Given the description of an element on the screen output the (x, y) to click on. 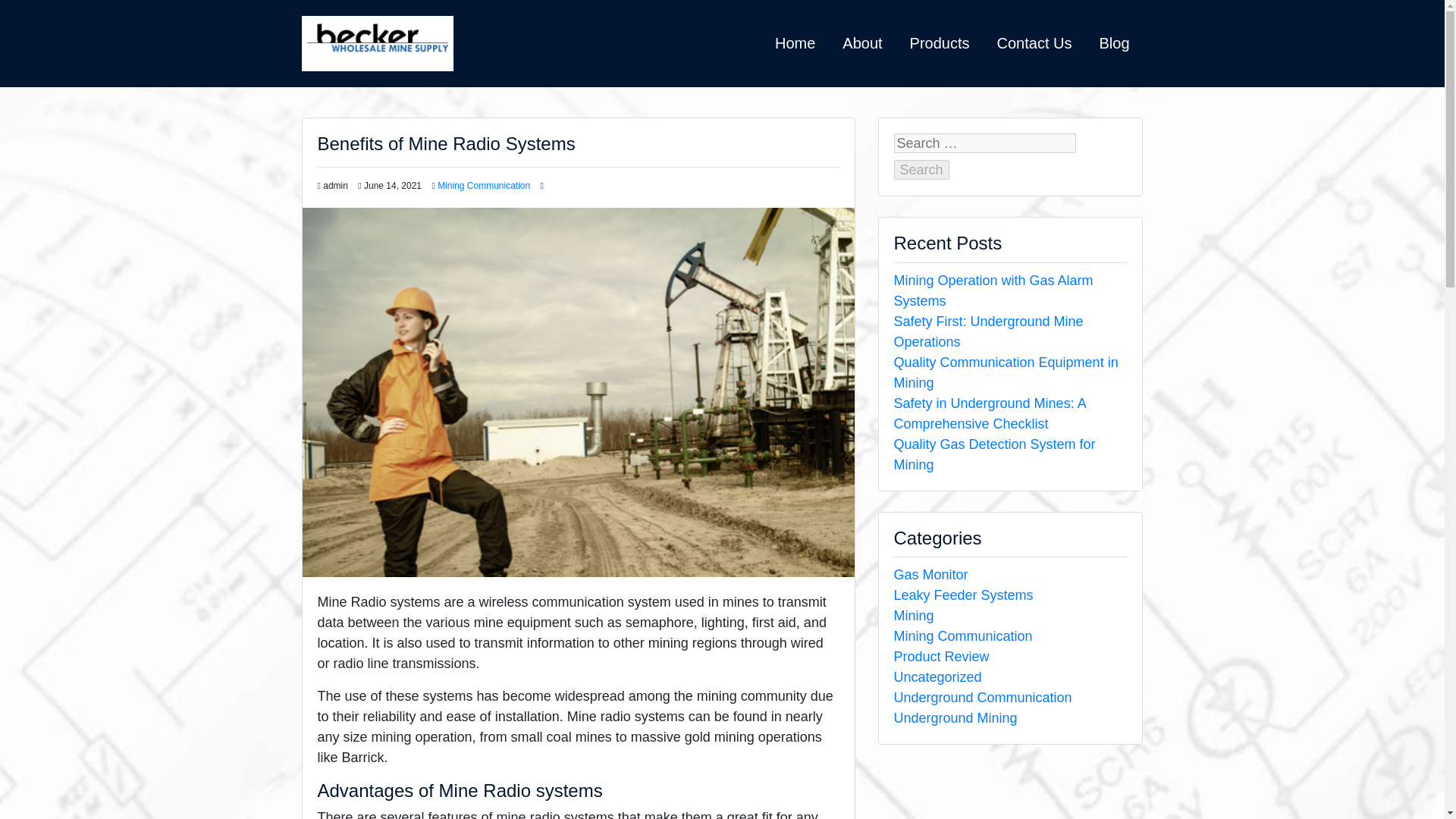
Mining (913, 615)
Search (921, 169)
Contact Us (1035, 42)
Gas Monitor (930, 574)
Leaky Feeder Systems (962, 595)
Mining Operation with Gas Alarm Systems (993, 290)
Mining Communication (962, 635)
Search (921, 169)
About (861, 42)
Blog (1113, 42)
Uncategorized (937, 676)
Home (794, 42)
Search (921, 169)
Underground Mining (954, 717)
Quality Communication Equipment in Mining (1005, 372)
